Given the description of an element on the screen output the (x, y) to click on. 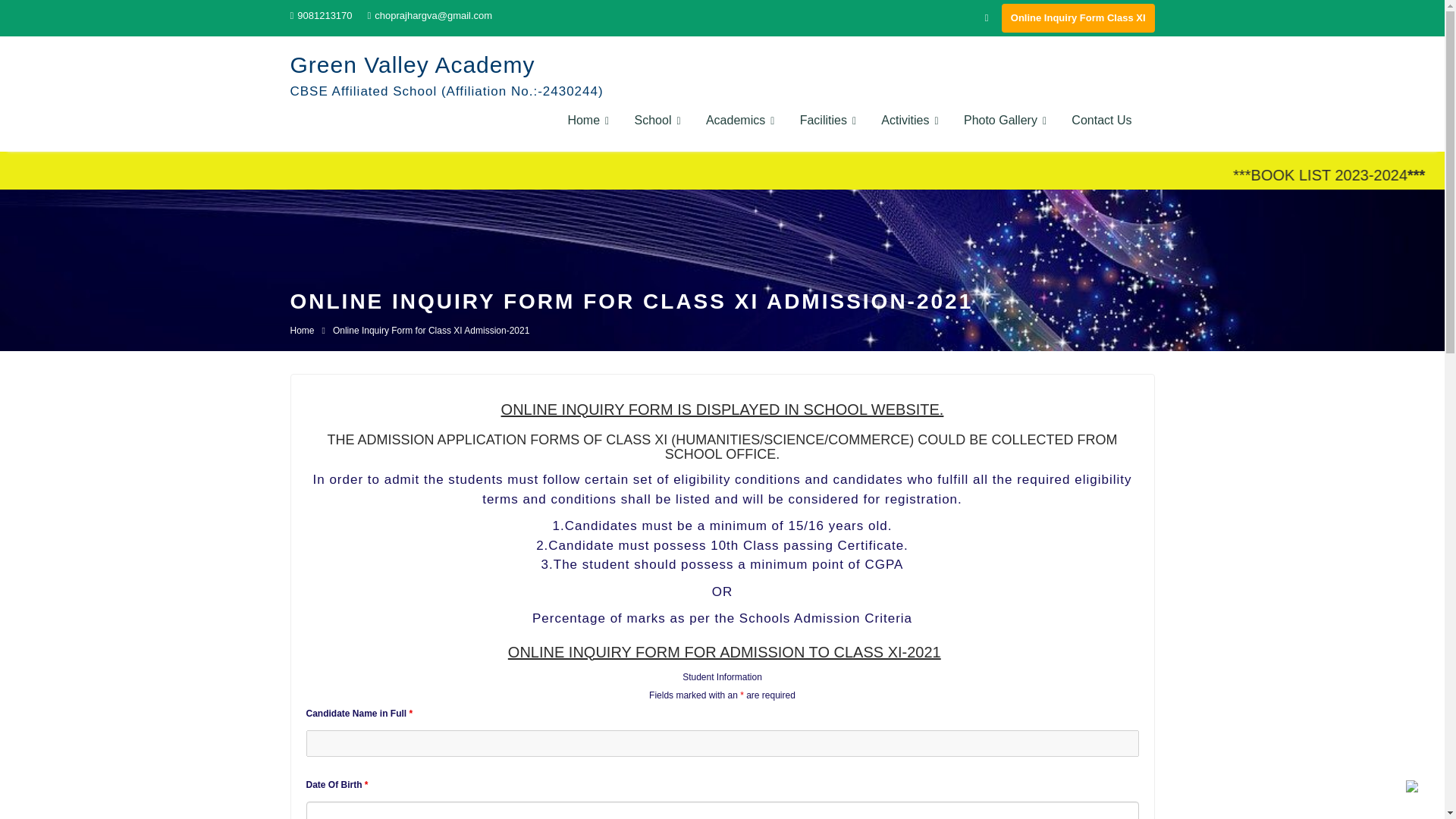
School (658, 120)
Home (588, 120)
Green Valley Academy (411, 64)
Academics (740, 120)
Online Inquiry Form Class XI (1077, 18)
Green Valley Academy (411, 64)
Facebook (986, 17)
Facilities (828, 120)
